Given the description of an element on the screen output the (x, y) to click on. 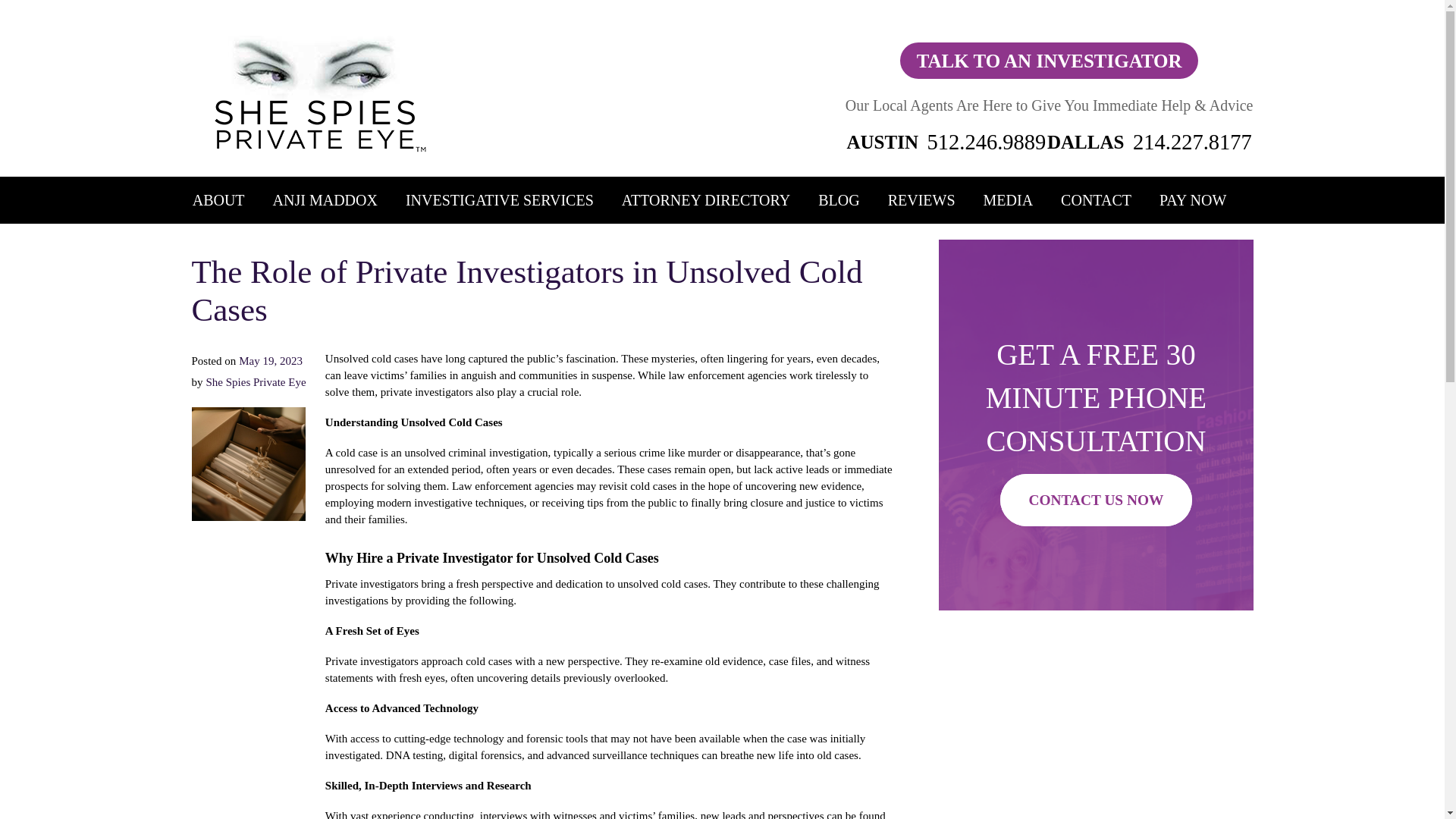
REVIEWS (921, 199)
She Spies Private Eye, Inc. - Austin Private Investigators (1095, 725)
View all posts by She Spies Private Eye (255, 381)
ATTORNEY DIRECTORY (705, 199)
TALK TO AN INVESTIGATOR (1048, 60)
INVESTIGATIVE SERVICES (500, 199)
MEDIA (1008, 199)
6:14 pm (270, 360)
214.227.8177 (1192, 141)
BLOG (838, 199)
